Given the description of an element on the screen output the (x, y) to click on. 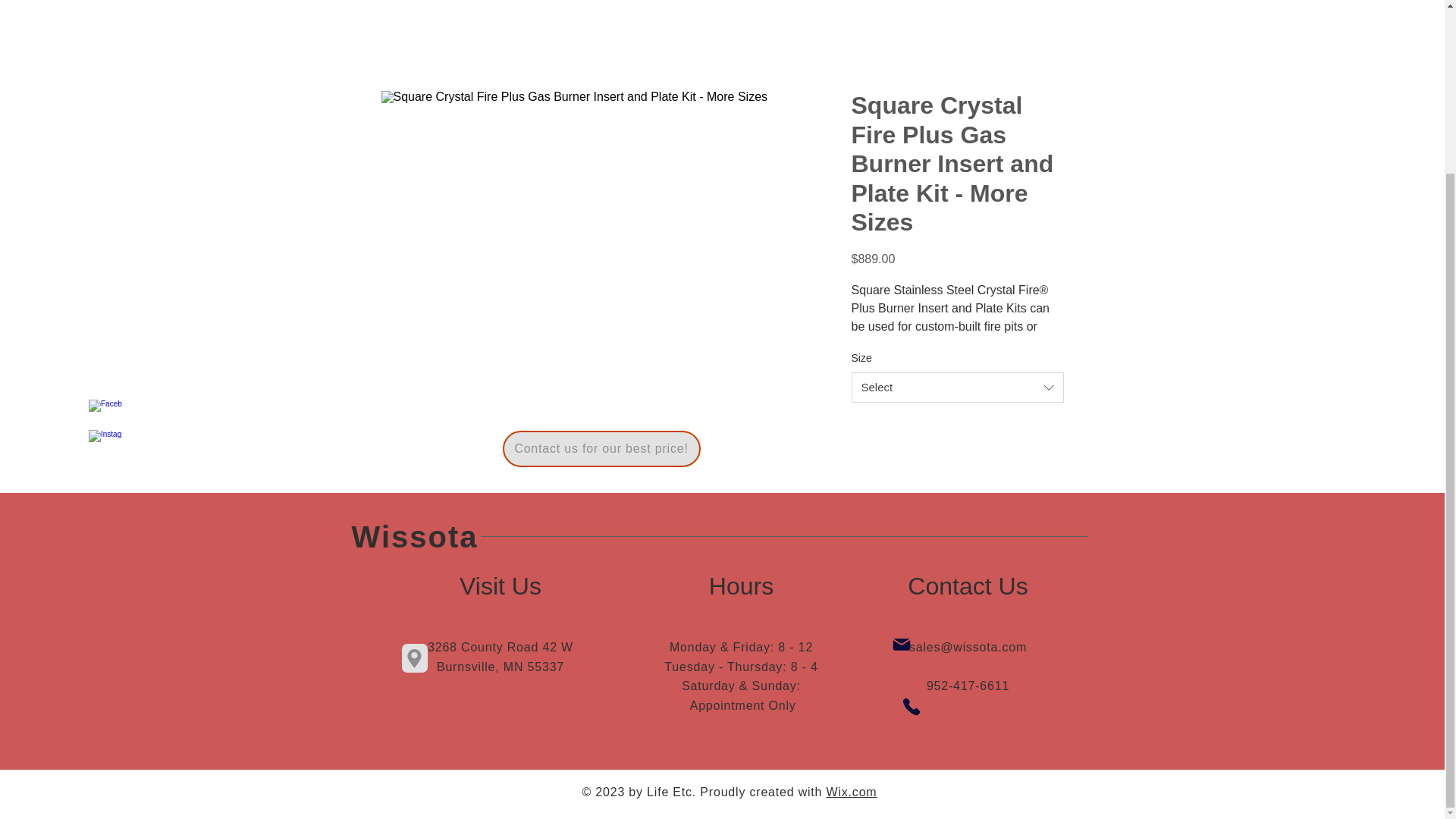
Contact us for our best price! (601, 448)
Wix.com (852, 791)
Wissota (415, 536)
Contact Us (967, 585)
Visit Us (500, 585)
Hours (741, 585)
Select (956, 387)
